Given the description of an element on the screen output the (x, y) to click on. 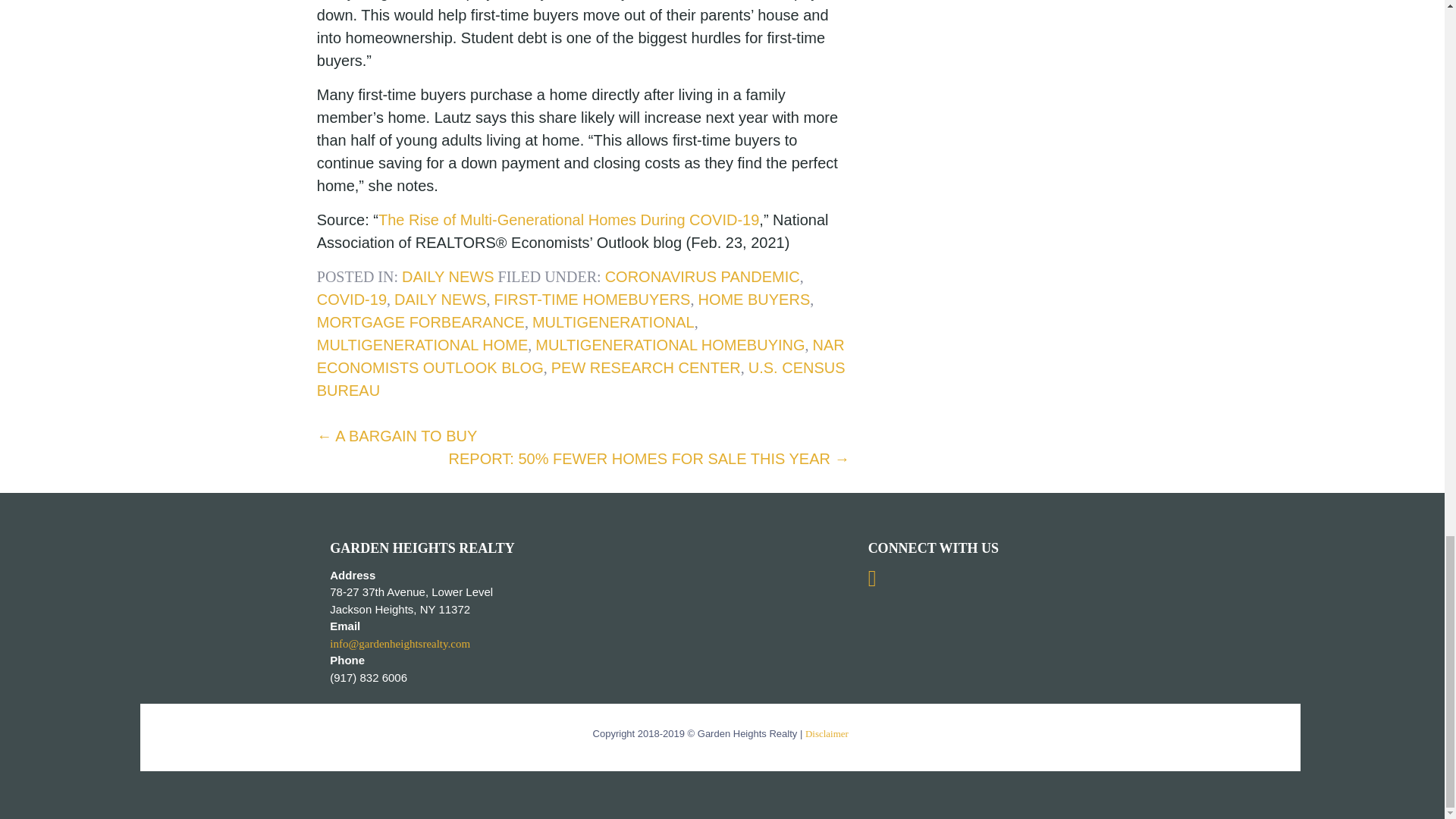
HOME BUYERS (753, 299)
MULTIGENERATIONAL HOME (422, 344)
U.S. CENSUS BUREAU (581, 378)
MULTIGENERATIONAL HOMEBUYING (670, 344)
Visit Garden Heights Realty on Instagram (871, 582)
CORONAVIRUS PANDEMIC (702, 276)
NAR ECONOMISTS OUTLOOK BLOG (580, 355)
The Rise of Multi-Generational Homes During COVID-19 (568, 219)
COVID-19 (352, 299)
DAILY NEWS (448, 276)
FIRST-TIME HOMEBUYERS (592, 299)
DAILY NEWS (440, 299)
PEW RESEARCH CENTER (646, 367)
MORTGAGE FORBEARANCE (420, 321)
MULTIGENERATIONAL (613, 321)
